Given the description of an element on the screen output the (x, y) to click on. 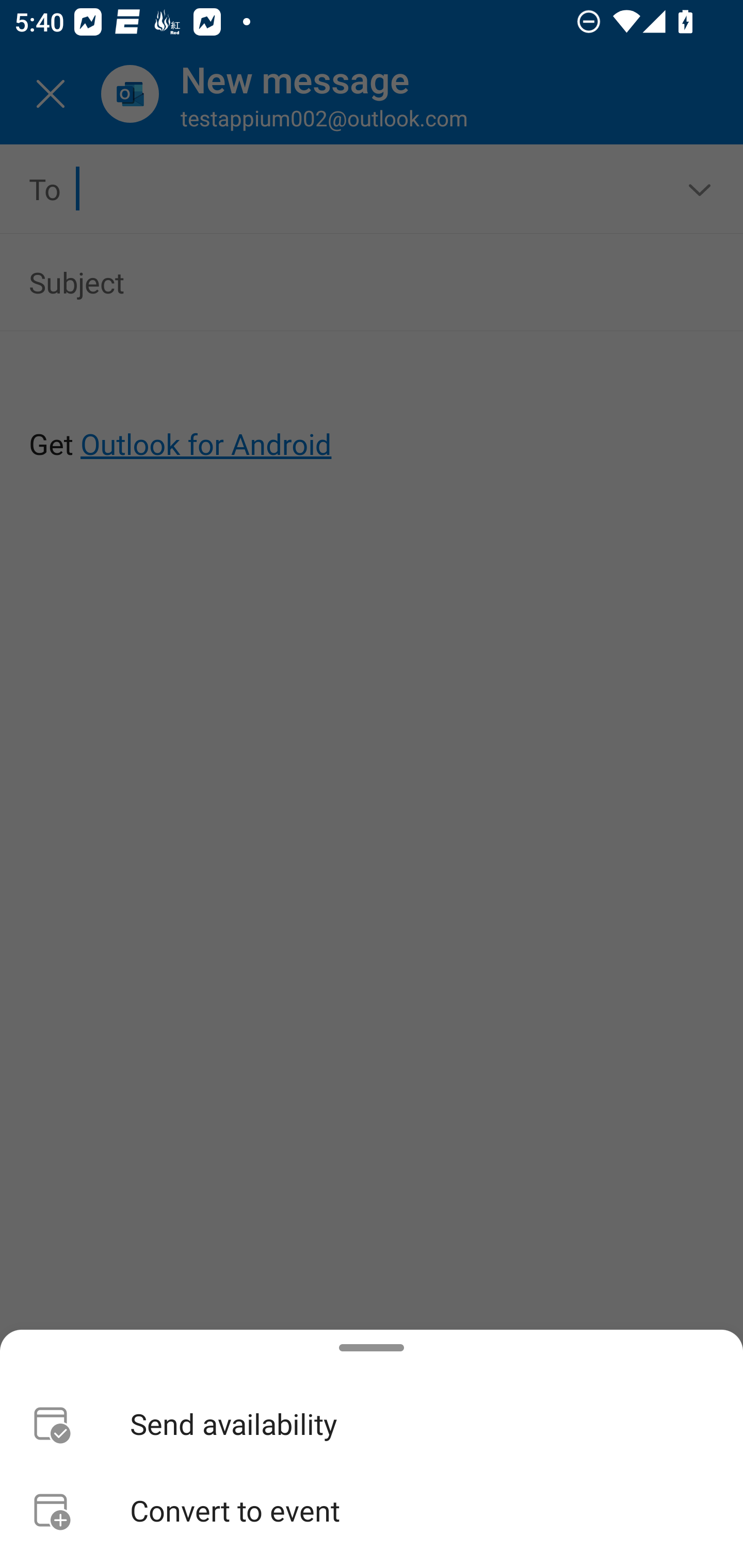
Send availability (371, 1423)
Convert to event (371, 1510)
